Given the description of an element on the screen output the (x, y) to click on. 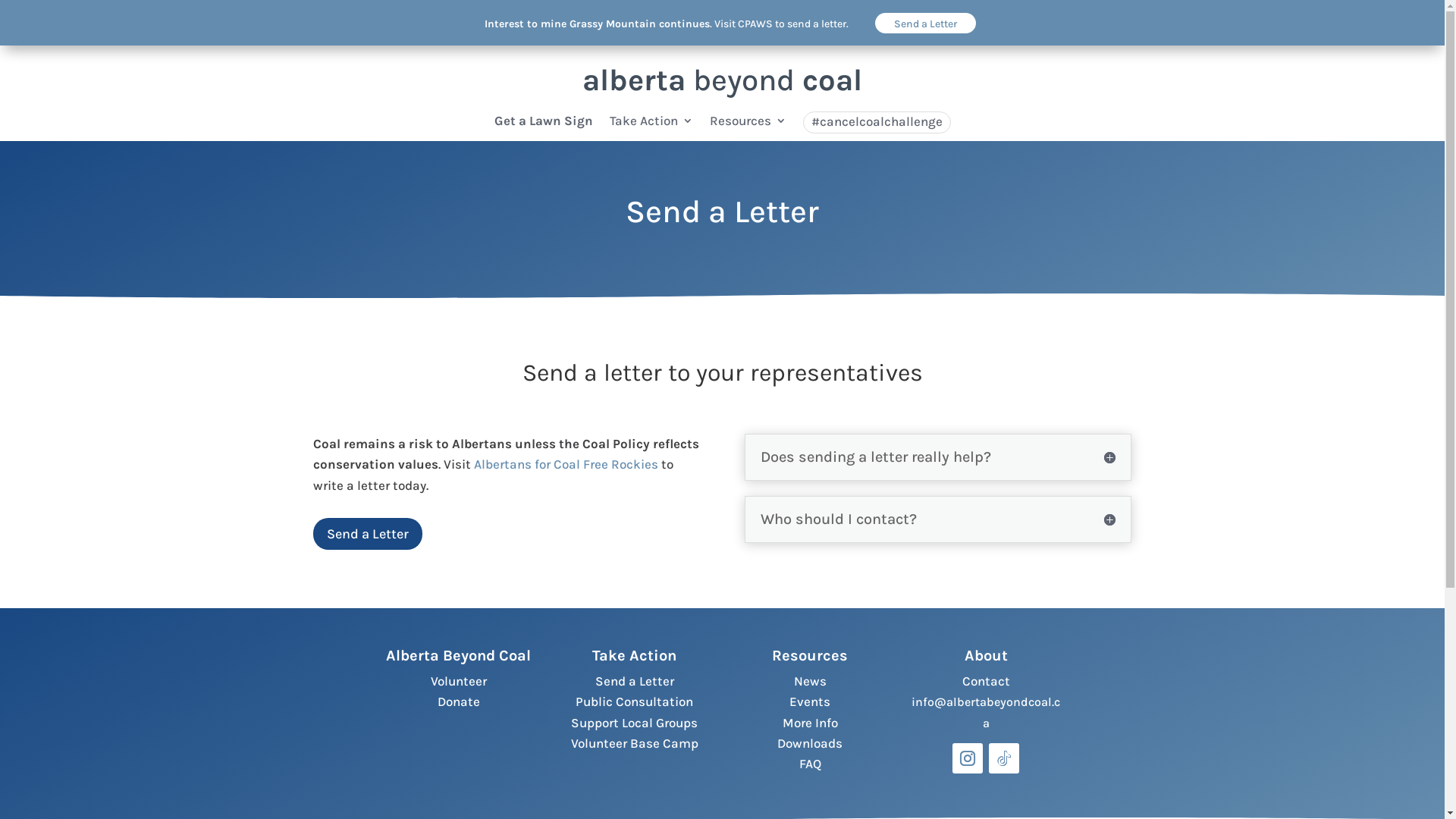
Follow on TikTok Element type: hover (1003, 758)
Volunteer Element type: text (458, 680)
More Info Element type: text (809, 722)
Support Local Groups Element type: text (634, 722)
Send a Letter Element type: text (925, 22)
Take Action Element type: text (651, 124)
Follow on Instagram Element type: hover (967, 758)
Albertans for Coal Free Rockies Element type: text (565, 463)
Resources Element type: text (747, 124)
News Element type: text (809, 680)
Get a Lawn Sign Element type: text (543, 124)
FAQ Element type: text (810, 763)
Events Element type: text (809, 701)
Public Consultation Element type: text (634, 701)
Volunteer Base Camp Element type: text (634, 742)
Contact Element type: text (986, 680)
Downloads Element type: text (809, 742)
Send a Letter Element type: text (634, 680)
#cancelcoalchallenge Element type: text (876, 122)
Donate Element type: text (458, 701)
Send a Letter Element type: text (366, 533)
